Given the description of an element on the screen output the (x, y) to click on. 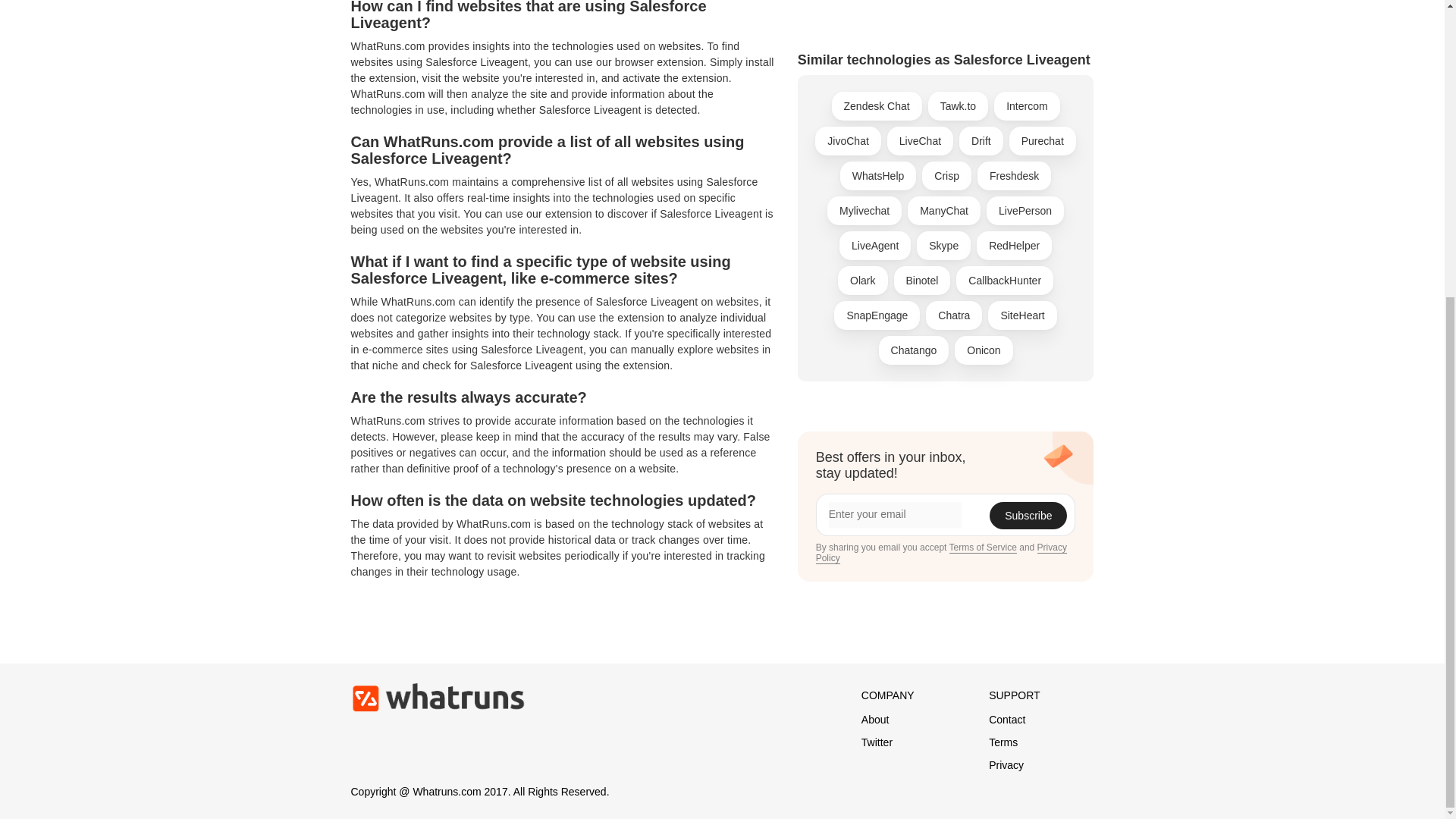
Terms of Service (982, 228)
Chatra (953, 5)
Privacy Policy (941, 233)
SnapEngage (877, 5)
Chatango (914, 30)
About (875, 719)
Onicon (983, 30)
Subscribe (1028, 195)
SiteHeart (1022, 5)
